Given the description of an element on the screen output the (x, y) to click on. 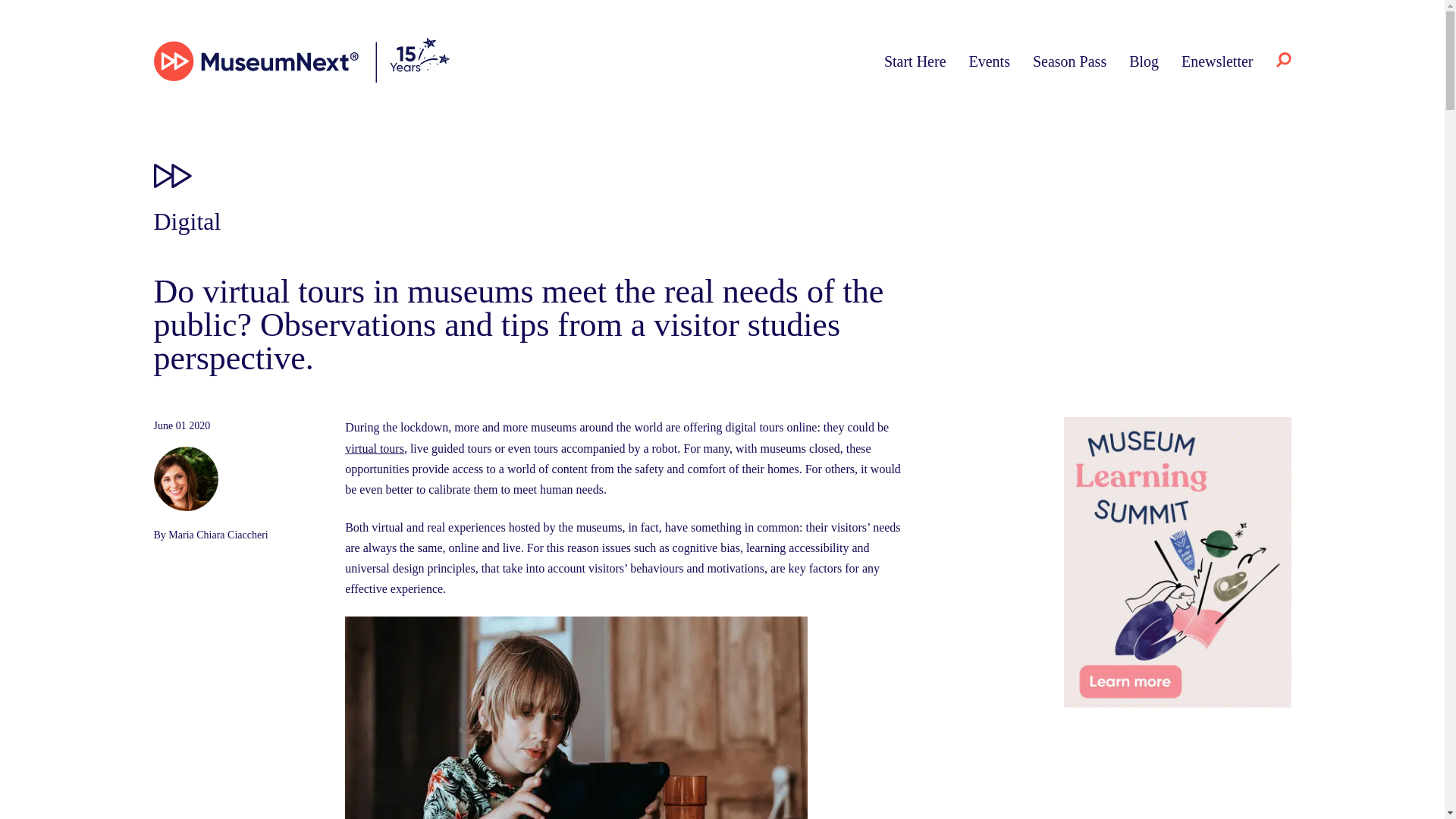
Enewsletter (1216, 61)
Events (989, 61)
Blog (1143, 61)
Start Here (914, 61)
Digital (186, 221)
Season Pass (1069, 61)
virtual tours (374, 448)
